Given the description of an element on the screen output the (x, y) to click on. 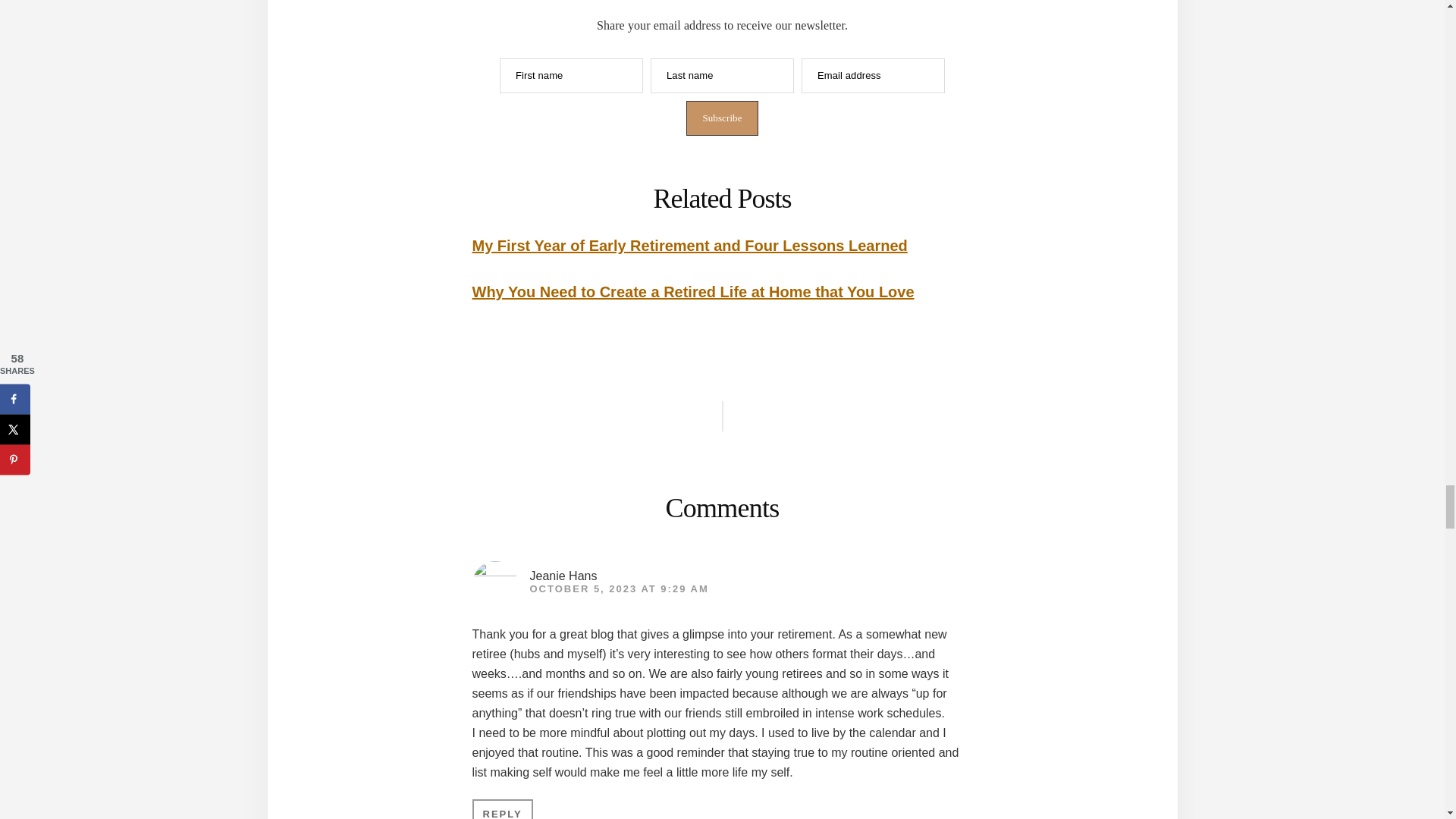
Subscribe (721, 117)
My First Year of Early Retirement and Four Lessons Learned (689, 245)
REPLY (501, 809)
Why You Need to Create a Retired Life at Home that You Love (692, 291)
OCTOBER 5, 2023 AT 9:29 AM (618, 588)
